Given the description of an element on the screen output the (x, y) to click on. 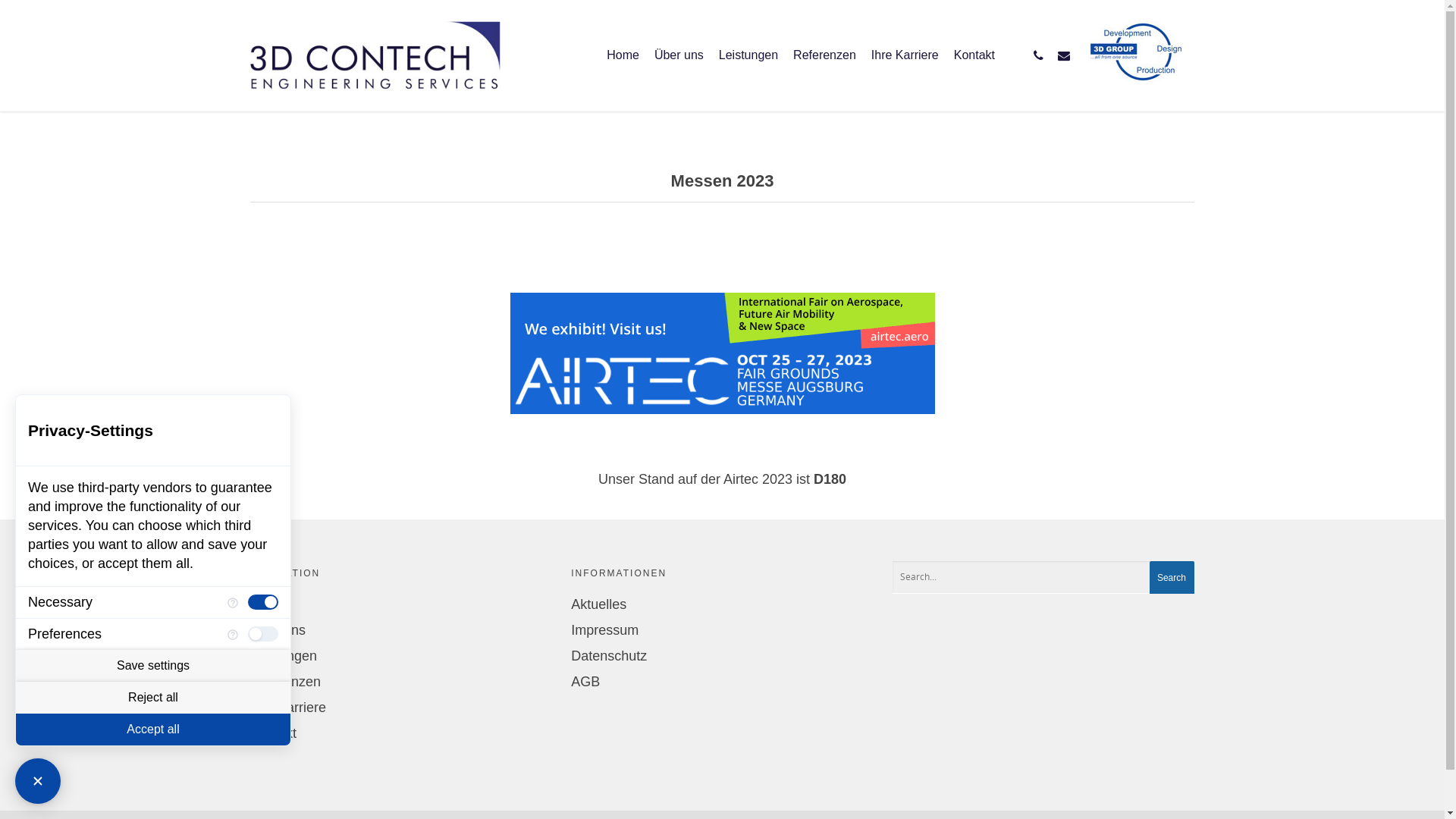
Save settings Element type: text (152, 665)
Datenschutz Element type: text (721, 655)
Impressum Element type: text (721, 630)
Aktuelles Element type: text (721, 604)
Search for: Element type: hover (1043, 577)
Leistungen Element type: text (748, 65)
Ihre Karriere Element type: text (904, 65)
Leistungen Element type: text (401, 655)
Search Element type: text (1171, 578)
Referenzen Element type: text (401, 681)
Reject all Element type: text (152, 697)
Home Element type: text (622, 65)
Referenzen Element type: text (824, 65)
Kontakt Element type: text (401, 733)
Ihre Karriere Element type: text (401, 707)
AGB Element type: text (721, 681)
Kontakt Element type: text (973, 65)
Accept all Element type: text (152, 729)
Home Element type: text (401, 604)
